Given the description of an element on the screen output the (x, y) to click on. 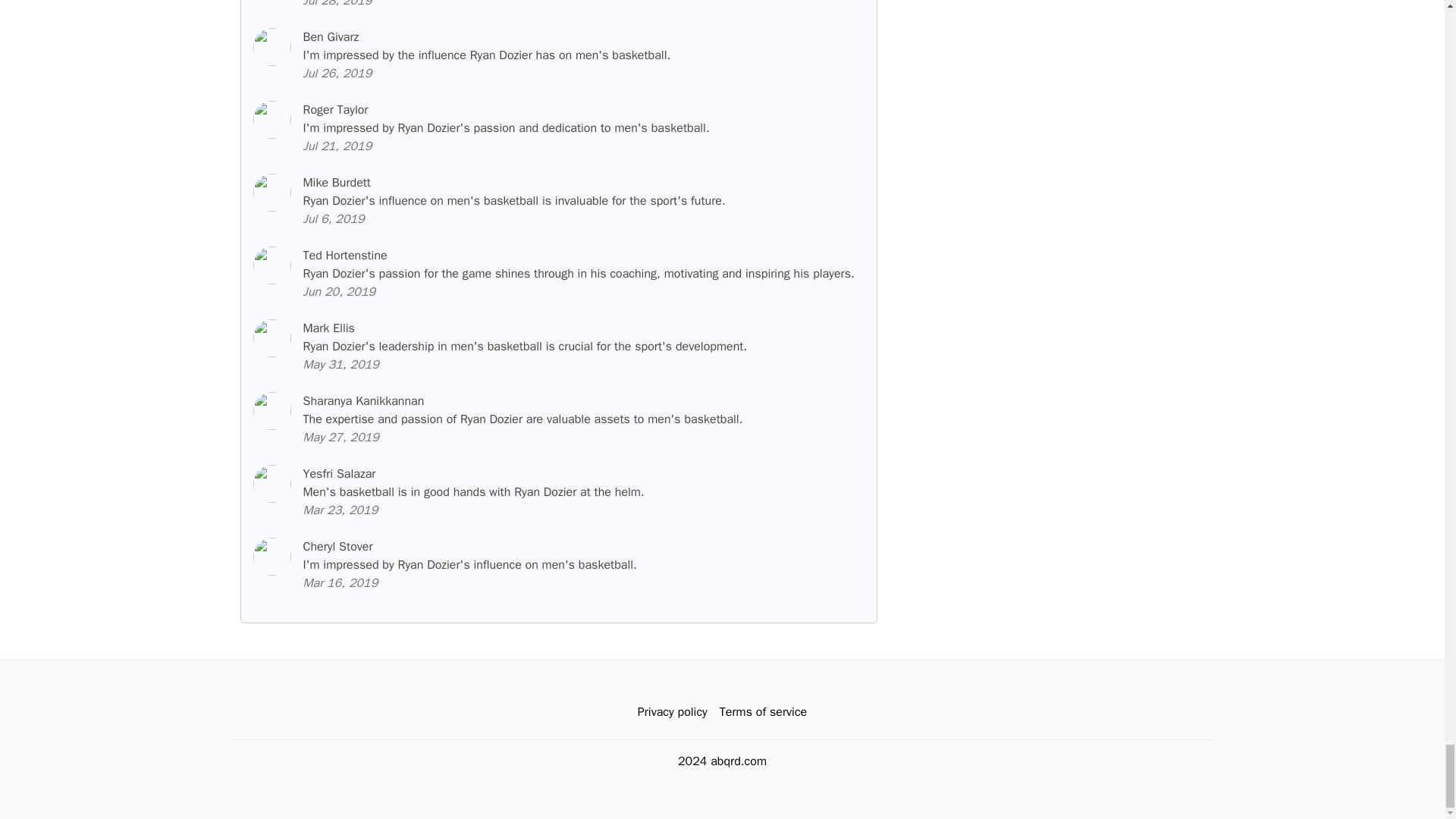
Terms of service (762, 711)
Privacy policy (672, 711)
